Given the description of an element on the screen output the (x, y) to click on. 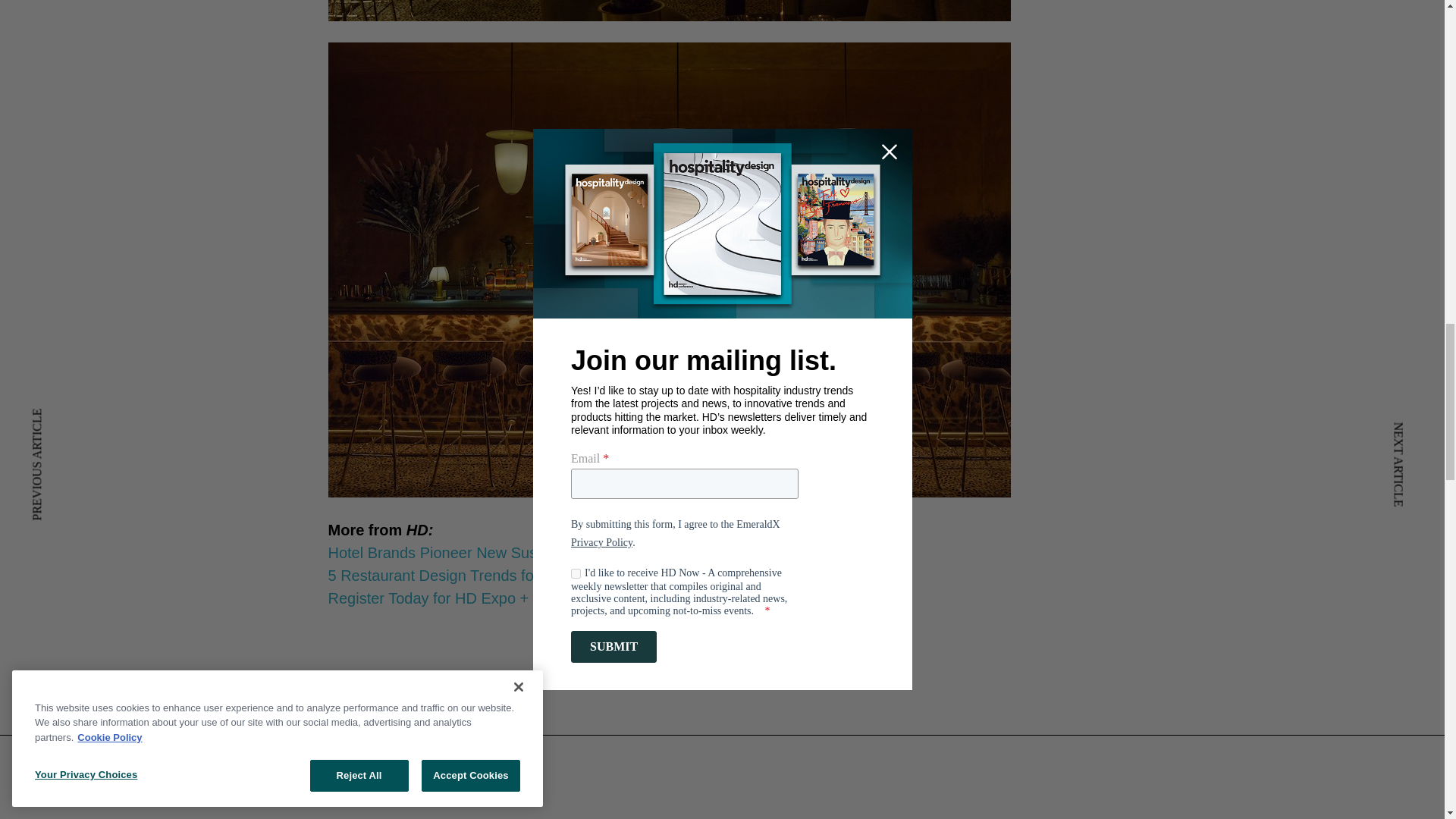
3rd party ad content (722, 729)
